Given the description of an element on the screen output the (x, y) to click on. 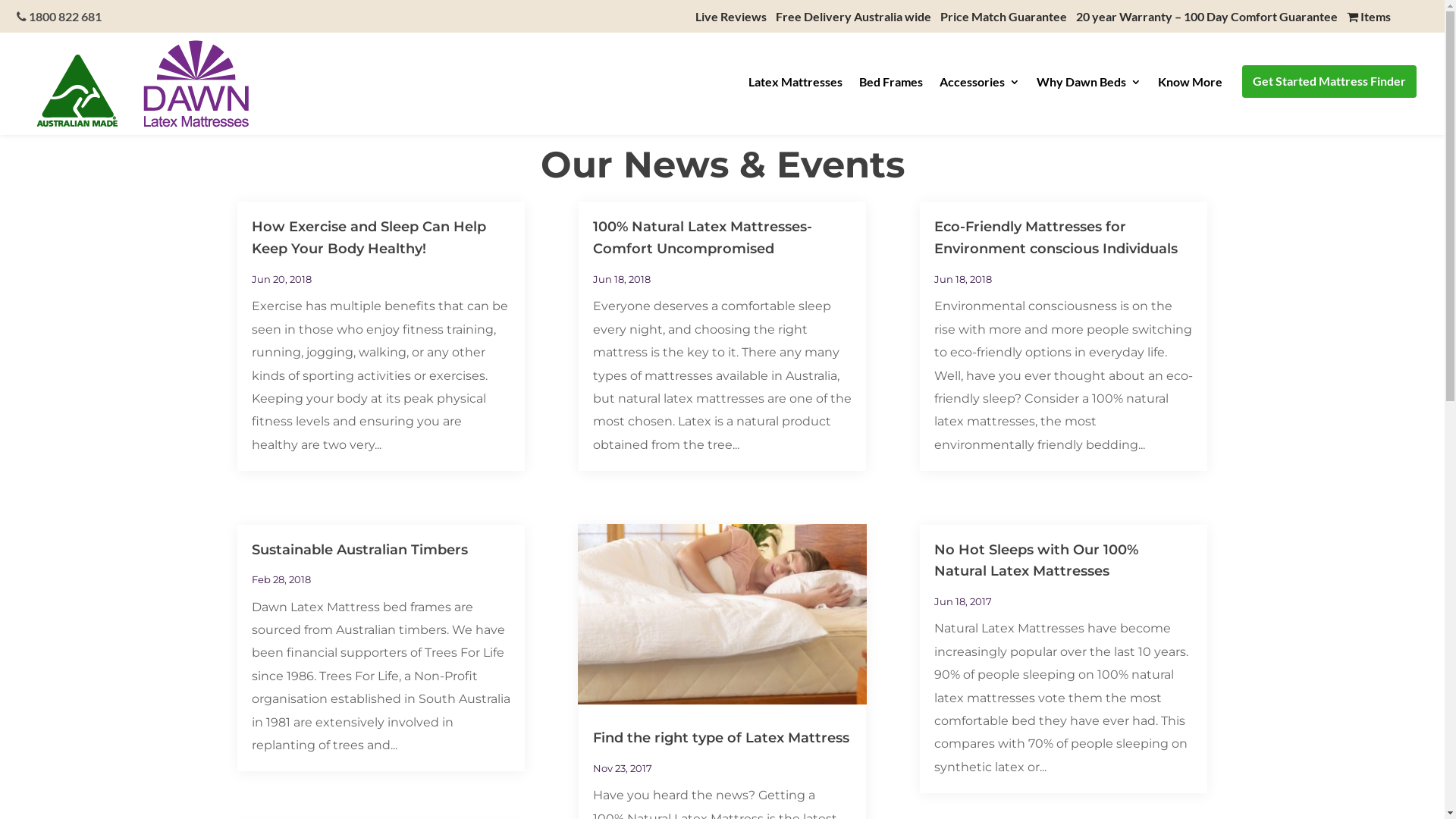
Bed Frames Element type: text (890, 86)
Free Delivery Australia wide Element type: text (853, 16)
dawnlatexmattresseslogo_wss_3 Element type: hover (142, 83)
Live Reviews Element type: text (730, 16)
Why Dawn Beds Element type: text (1088, 86)
Know More Element type: text (1189, 86)
How Exercise and Sleep Can Help Keep Your Body Healthy! Element type: text (368, 237)
1800 822 681 Element type: text (58, 16)
Get Started Mattress Finder Element type: text (1328, 83)
Price Match Guarantee Element type: text (1003, 16)
Sustainable Australian Timbers Element type: text (359, 549)
Latex Mattresses Element type: text (795, 86)
Items Element type: text (1368, 16)
Accessories Element type: text (979, 86)
100% Natural Latex Mattresses- Comfort Uncompromised Element type: text (702, 237)
Find the right type of Latex Mattress Element type: text (721, 737)
No Hot Sleeps with Our 100% Natural Latex Mattresses Element type: text (1036, 560)
